Given the description of an element on the screen output the (x, y) to click on. 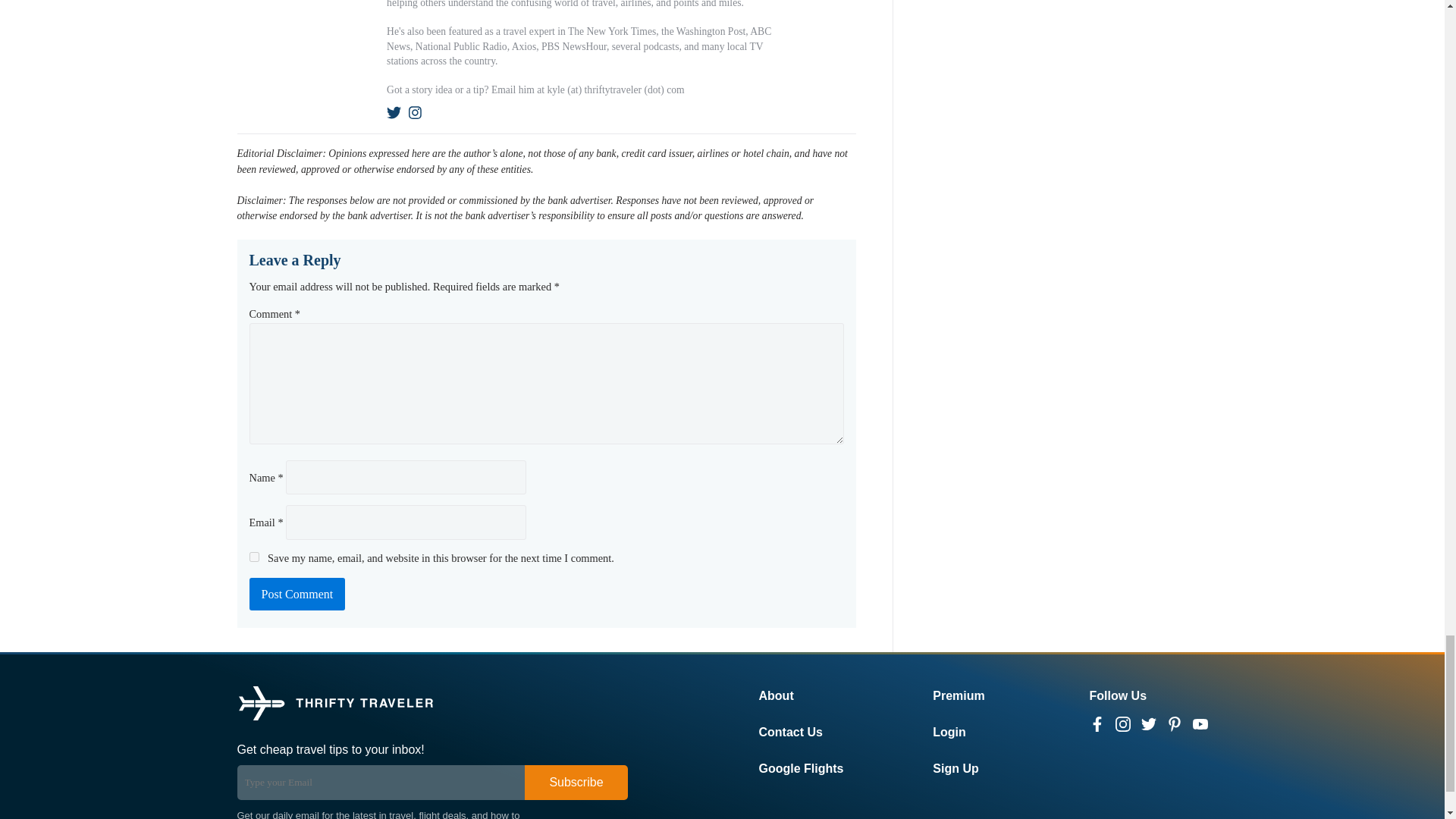
Youtube Logo Youtube Logo (1199, 724)
Facebook Logo Facebook Logo (1096, 724)
Pinterest Logo Pinterest Logo (1173, 724)
Twitter Logo Twitter Logo (1148, 724)
Post Comment (296, 594)
Twitter logo: link to the author's twitter page (394, 112)
yes (253, 556)
Twitter logo: link to the author's twitter page (394, 112)
Instagram Logo Instagram Logo (1122, 724)
